Given the description of an element on the screen output the (x, y) to click on. 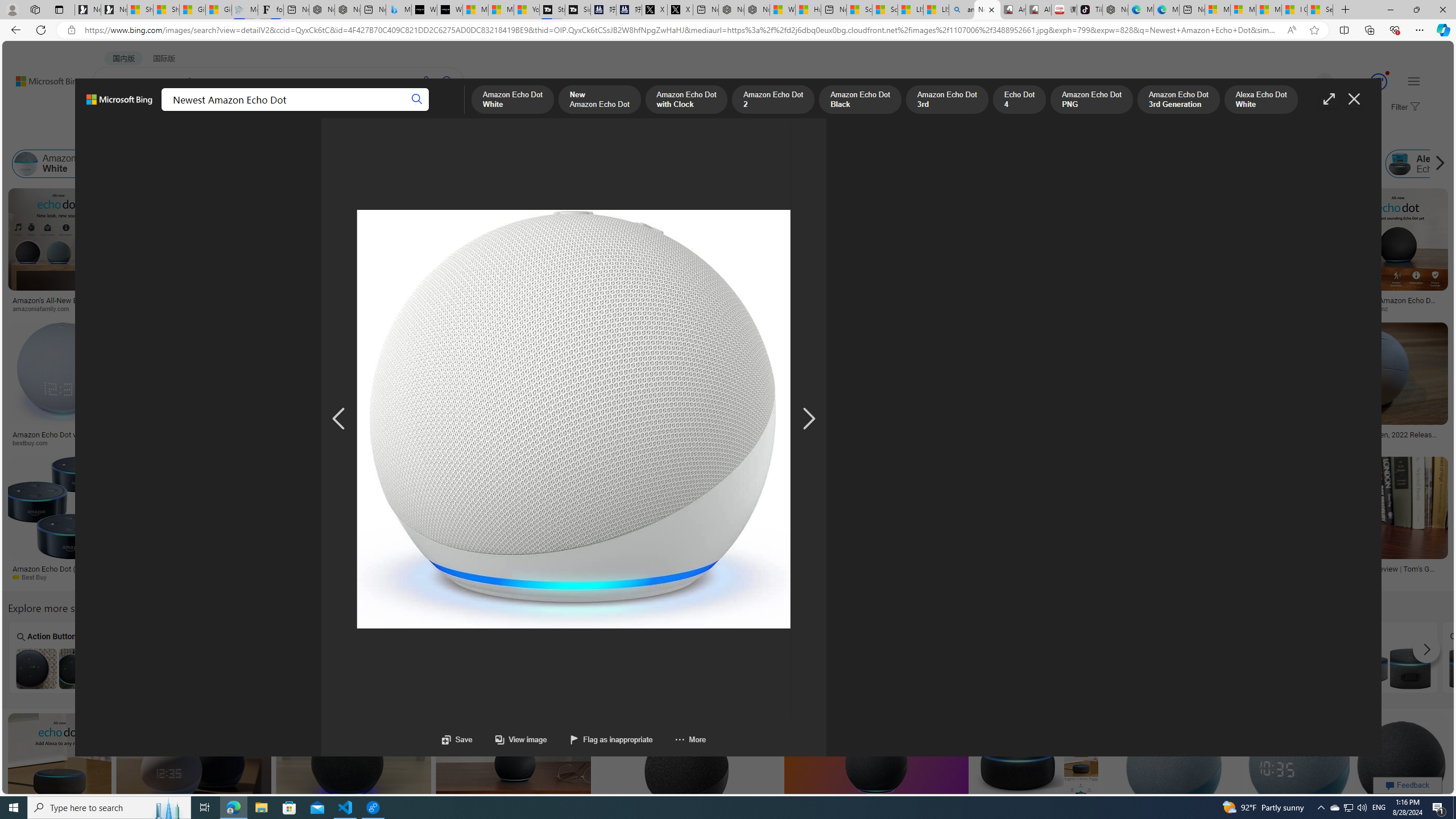
pbtech.co.nz (1397, 308)
Amazon Echo Dot Icon (876, 668)
Amazon Echo Dot Kids Edition Kids Edition (364, 656)
Microsoft Bing, Back to Bing search (118, 104)
Free Amazon Echo Dot (1387, 668)
New Amazon Echo Dot (145, 163)
